Given the description of an element on the screen output the (x, y) to click on. 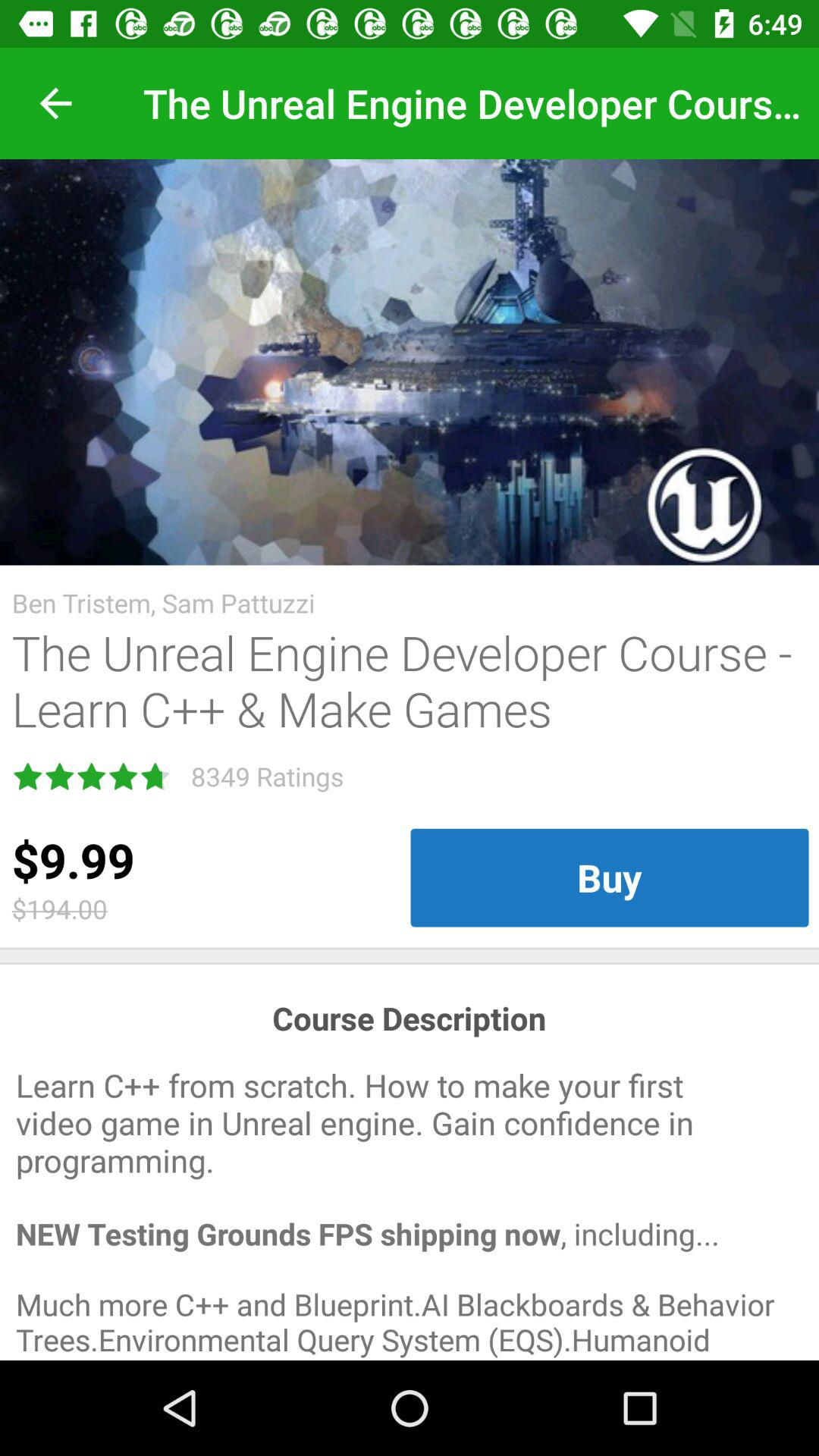
press buy (609, 877)
